Given the description of an element on the screen output the (x, y) to click on. 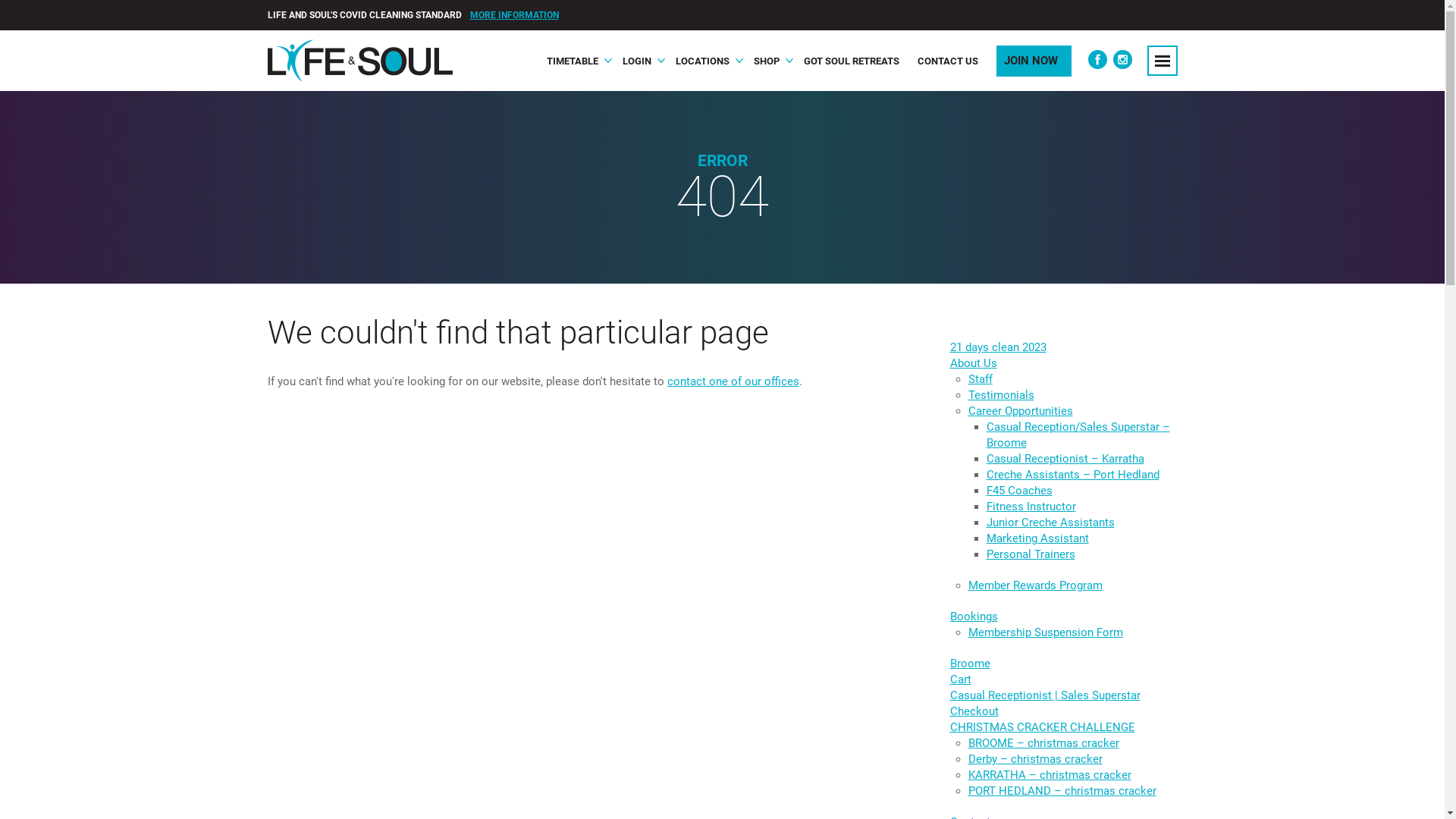
JOIN NOW Element type: text (1033, 60)
Member Rewards Program Element type: text (1034, 585)
Broome Element type: text (969, 663)
About Us Element type: text (972, 363)
LOGIN Element type: text (639, 60)
GOT SOUL RETREATS Element type: text (851, 60)
Marketing Assistant Element type: text (1036, 538)
LOCATIONS Element type: text (704, 60)
contact one of our offices Element type: text (733, 381)
CONTACT US Element type: text (947, 60)
Bookings Element type: text (973, 616)
F45 Coaches Element type: text (1018, 490)
Membership Suspension Form Element type: text (1044, 632)
Personal Trainers Element type: text (1029, 554)
Casual Receptionist | Sales Superstar Element type: text (1044, 695)
MORE INFORMATION Element type: text (514, 14)
Checkout Element type: text (973, 711)
Testimonials Element type: text (1000, 394)
SHOP Element type: text (769, 60)
TIMETABLE Element type: text (574, 60)
Cart Element type: text (959, 679)
Fitness Instructor Element type: text (1030, 506)
CHRISTMAS CRACKER CHALLENGE Element type: text (1041, 727)
Career Opportunities Element type: text (1019, 410)
21 days clean 2023 Element type: text (997, 347)
Junior Creche Assistants Element type: text (1049, 522)
Life & Soul Element type: text (358, 60)
Staff Element type: text (979, 378)
